Given the description of an element on the screen output the (x, y) to click on. 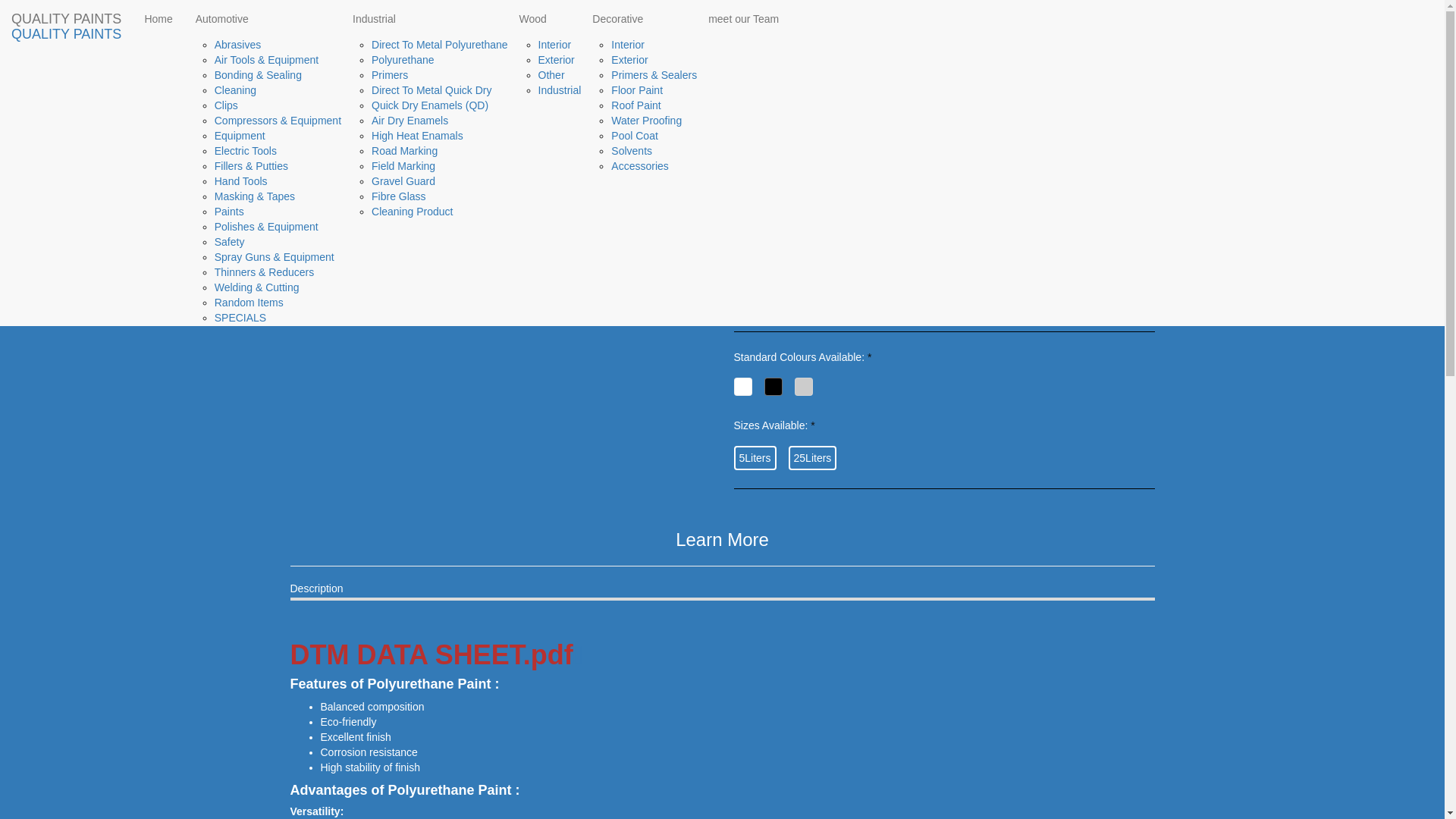
QUALITY PAINTS (66, 18)
5Liters  (754, 457)
Direct To Metal Polyurethane (439, 44)
Equipment (239, 135)
Automotive   (262, 18)
Industrial (559, 90)
25Liters  (813, 457)
SPECIALS (240, 317)
Air Dry Enamels (409, 120)
High Heat Enamals (417, 135)
Interior (555, 44)
Road Marking (404, 150)
Cleaning Product (411, 211)
Fibre Glass (398, 196)
Random Items (248, 302)
